Given the description of an element on the screen output the (x, y) to click on. 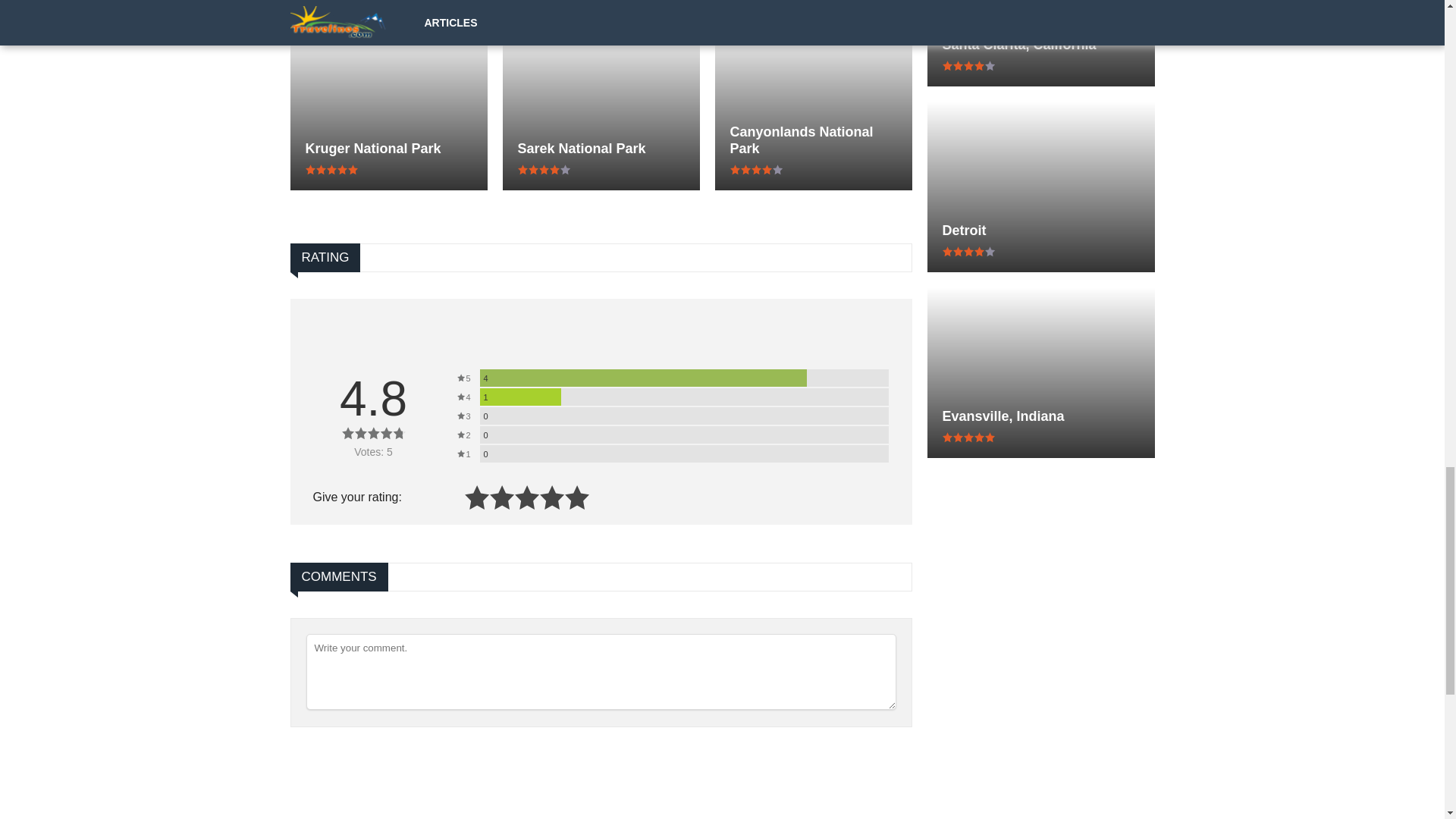
Detroit (1040, 230)
Sarek National Park (600, 148)
Santa Clarita, California (1040, 44)
Sarek National Park (600, 148)
Evansville, Indiana (1040, 416)
Kruger National Park (387, 148)
Evansville, Indiana (1040, 416)
Santa Clarita, California (1040, 44)
Kruger National Park (387, 148)
Detroit (1040, 230)
Canyonlands National Park (812, 140)
Canyonlands National Park (812, 140)
